Given the description of an element on the screen output the (x, y) to click on. 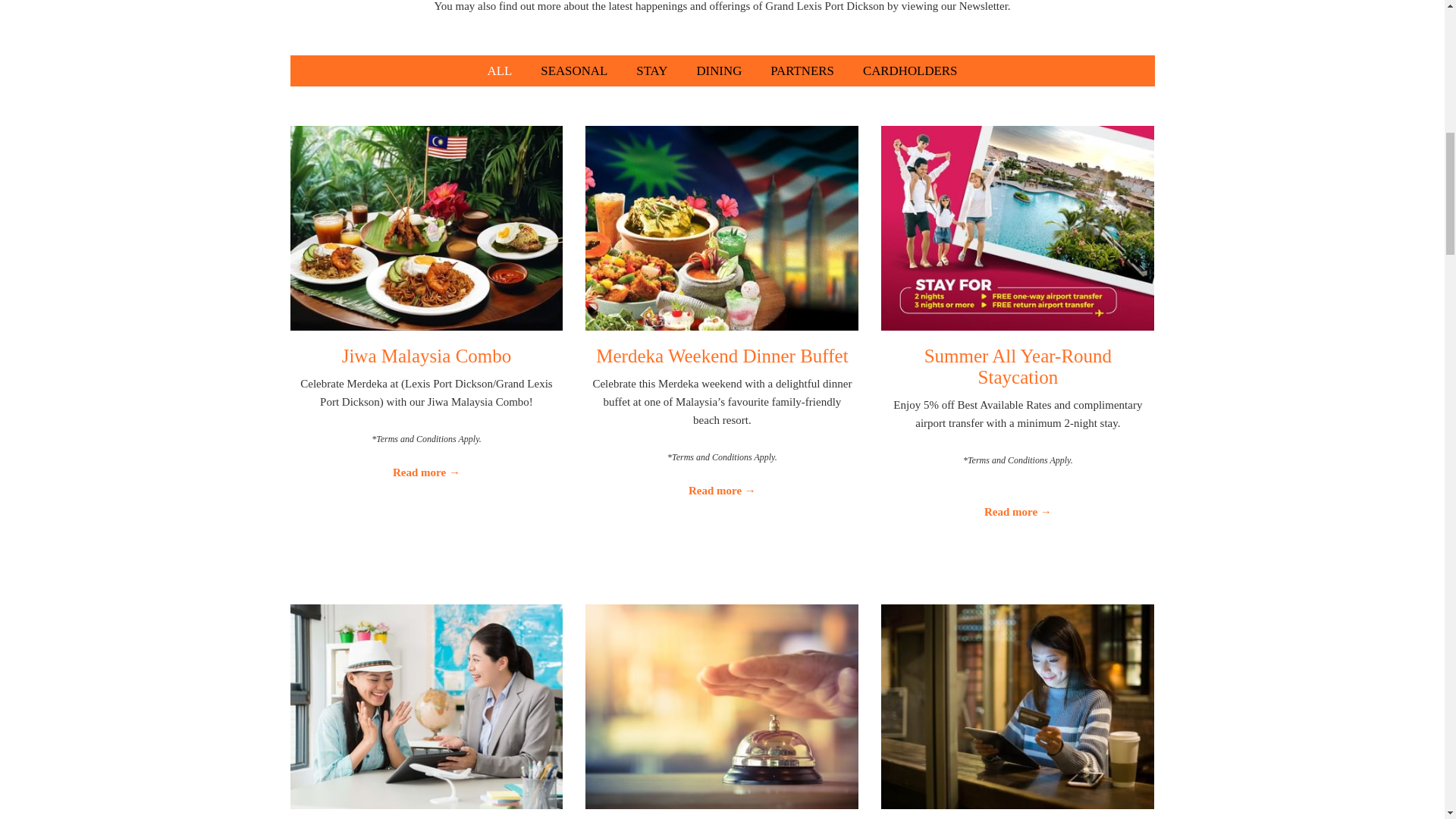
STAY (651, 70)
ALL (499, 70)
DINING (719, 70)
Read more (425, 472)
Jiwa Malaysia Combo (427, 355)
Read more (1017, 511)
CARDHOLDERS (909, 70)
SEASONAL (573, 70)
PARTNERS (801, 70)
Summer All Year-Round Staycation (1018, 366)
